Given the description of an element on the screen output the (x, y) to click on. 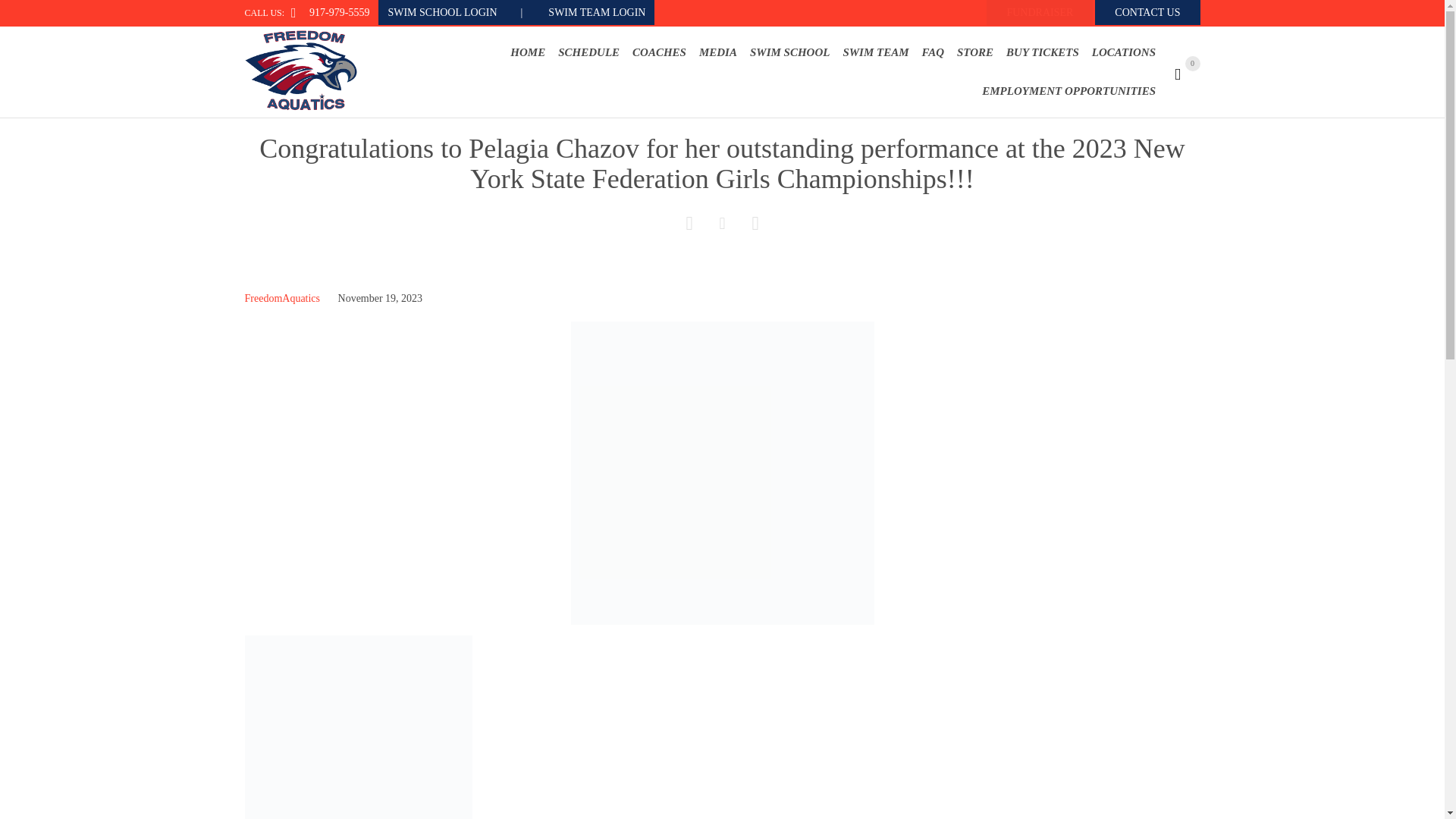
COACHES (659, 51)
HOME (527, 52)
SWIM TEAM (876, 51)
SWIM SCHOOL LOGIN (459, 12)
SWIM SCHOOL (788, 51)
HOME (527, 51)
917-979-5559 (338, 12)
CONTACT US (1146, 12)
FUNDRAISER (1040, 12)
FAQ (932, 51)
STORE (975, 51)
EMPLOYMENT OPPORTUNITIES (1068, 90)
